Given the description of an element on the screen output the (x, y) to click on. 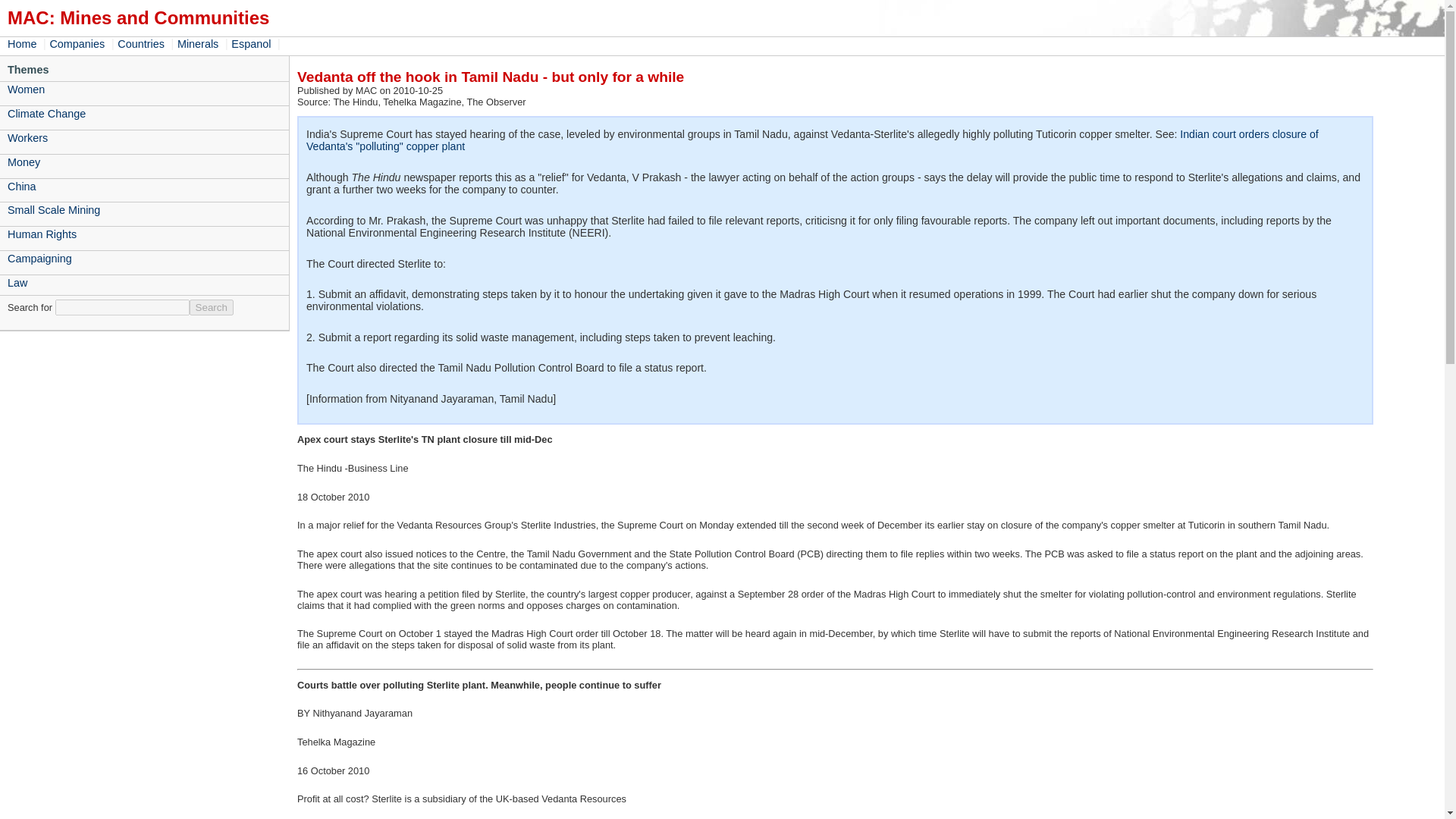
Search (210, 307)
Minerals (199, 43)
Small Scale Mining (144, 209)
Companies (78, 43)
Money (144, 161)
Search (210, 307)
Law (144, 282)
Women (144, 89)
Countries (142, 43)
